Given the description of an element on the screen output the (x, y) to click on. 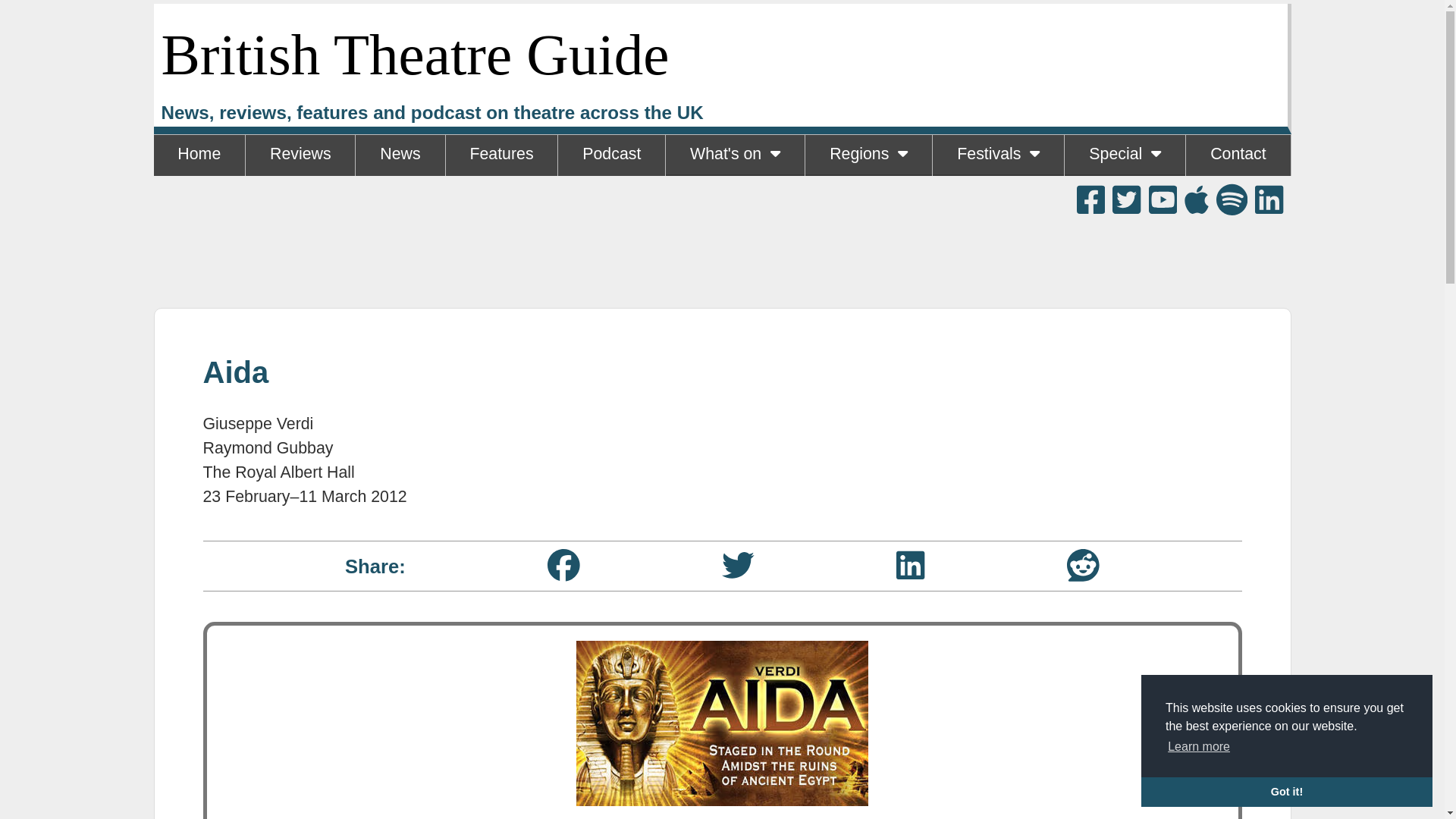
Reddit (1083, 564)
Festivals   (998, 155)
British Theatre Guide (414, 54)
Home (198, 154)
Facebook (563, 564)
News (399, 154)
Listings (734, 196)
Features (501, 154)
Regions   (868, 155)
Reviews (300, 154)
North West (868, 196)
Edinburgh (997, 196)
Podcast (611, 154)
What's on   (735, 155)
Twitter (738, 564)
